Given the description of an element on the screen output the (x, y) to click on. 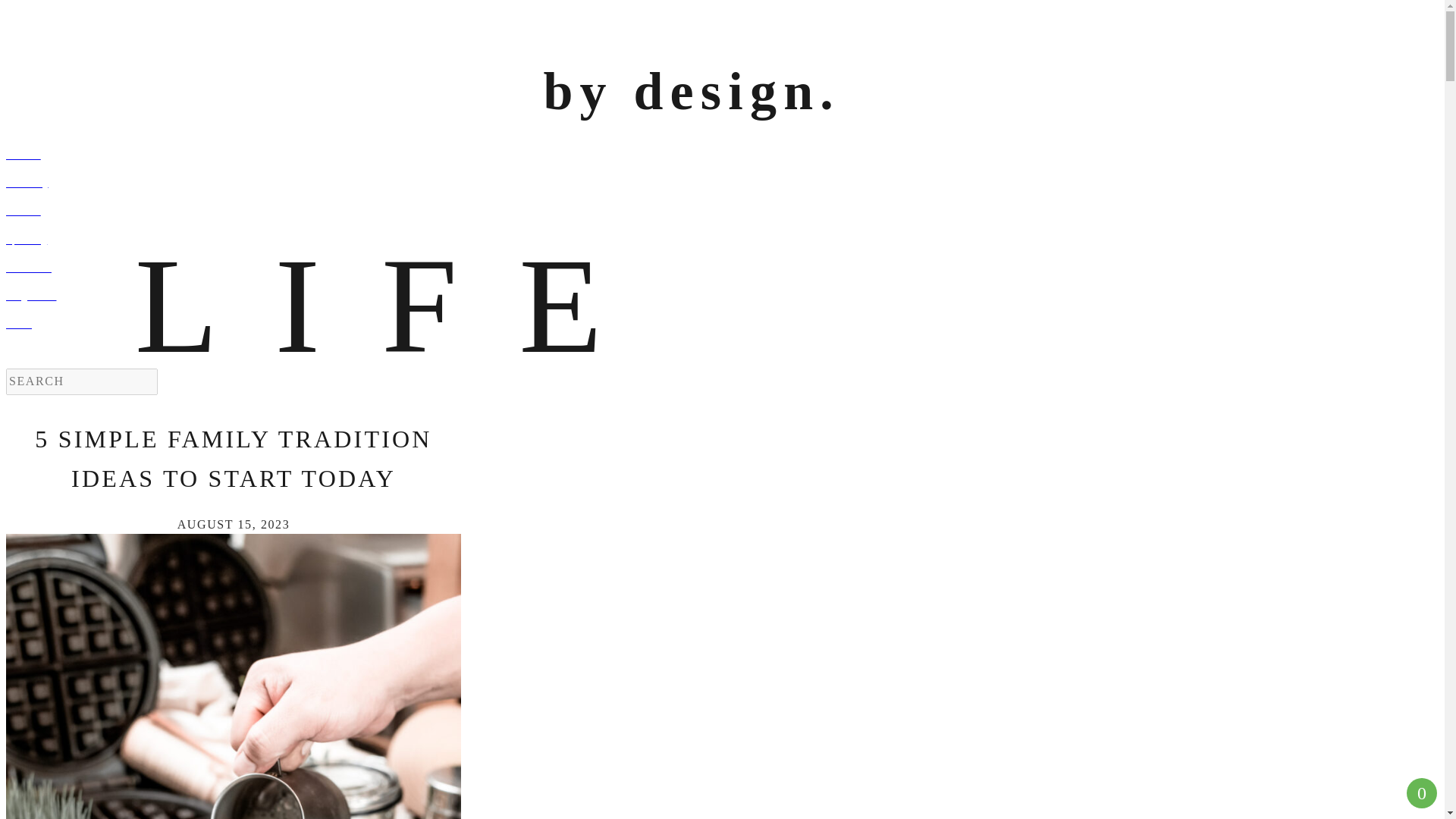
Podcast (460, 211)
Speaking (460, 240)
Coaching (460, 183)
Contact (460, 155)
About KG (460, 268)
Faves (460, 324)
Blog Home (460, 296)
